Given the description of an element on the screen output the (x, y) to click on. 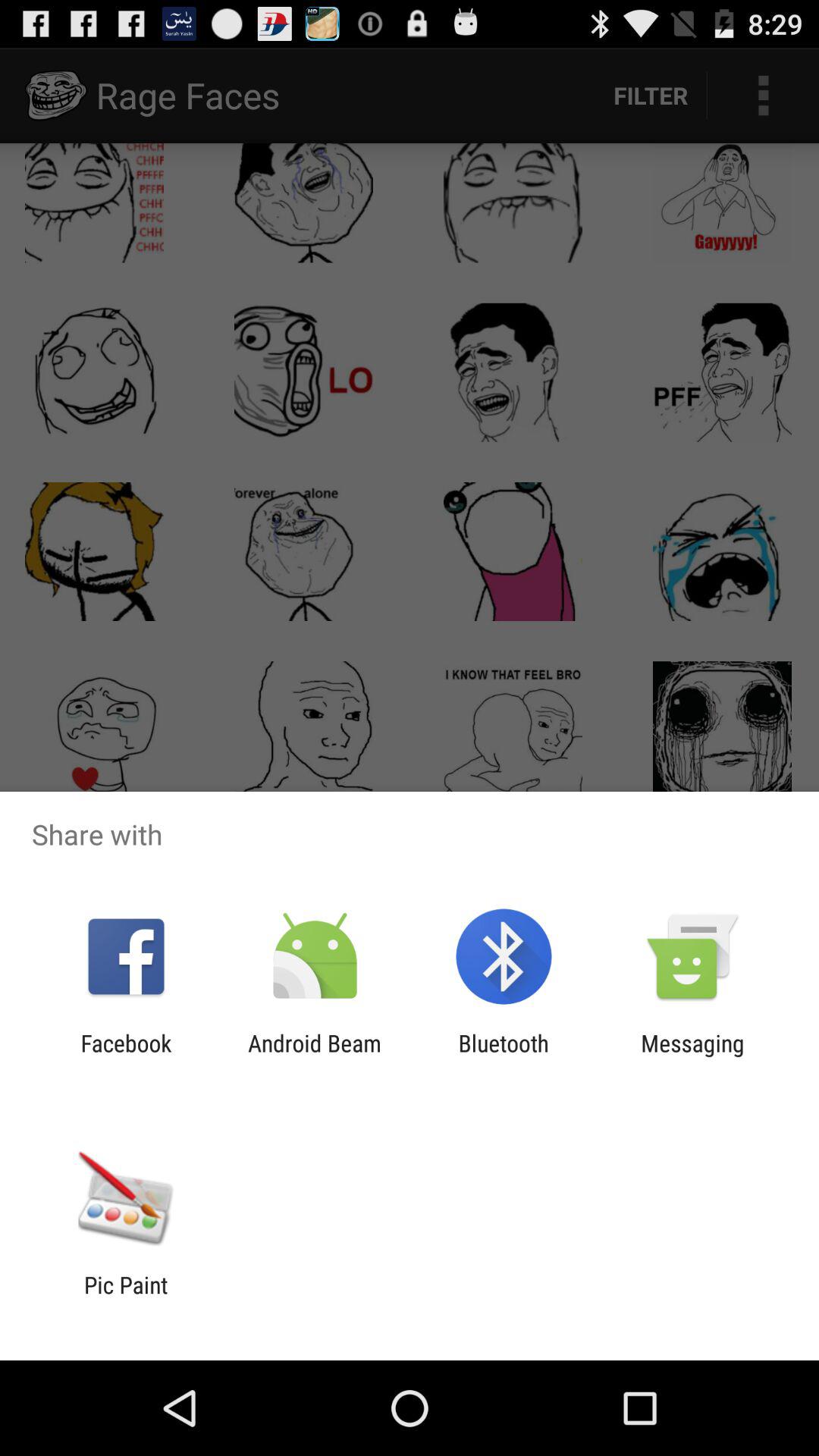
turn off the icon next to the messaging item (503, 1056)
